Given the description of an element on the screen output the (x, y) to click on. 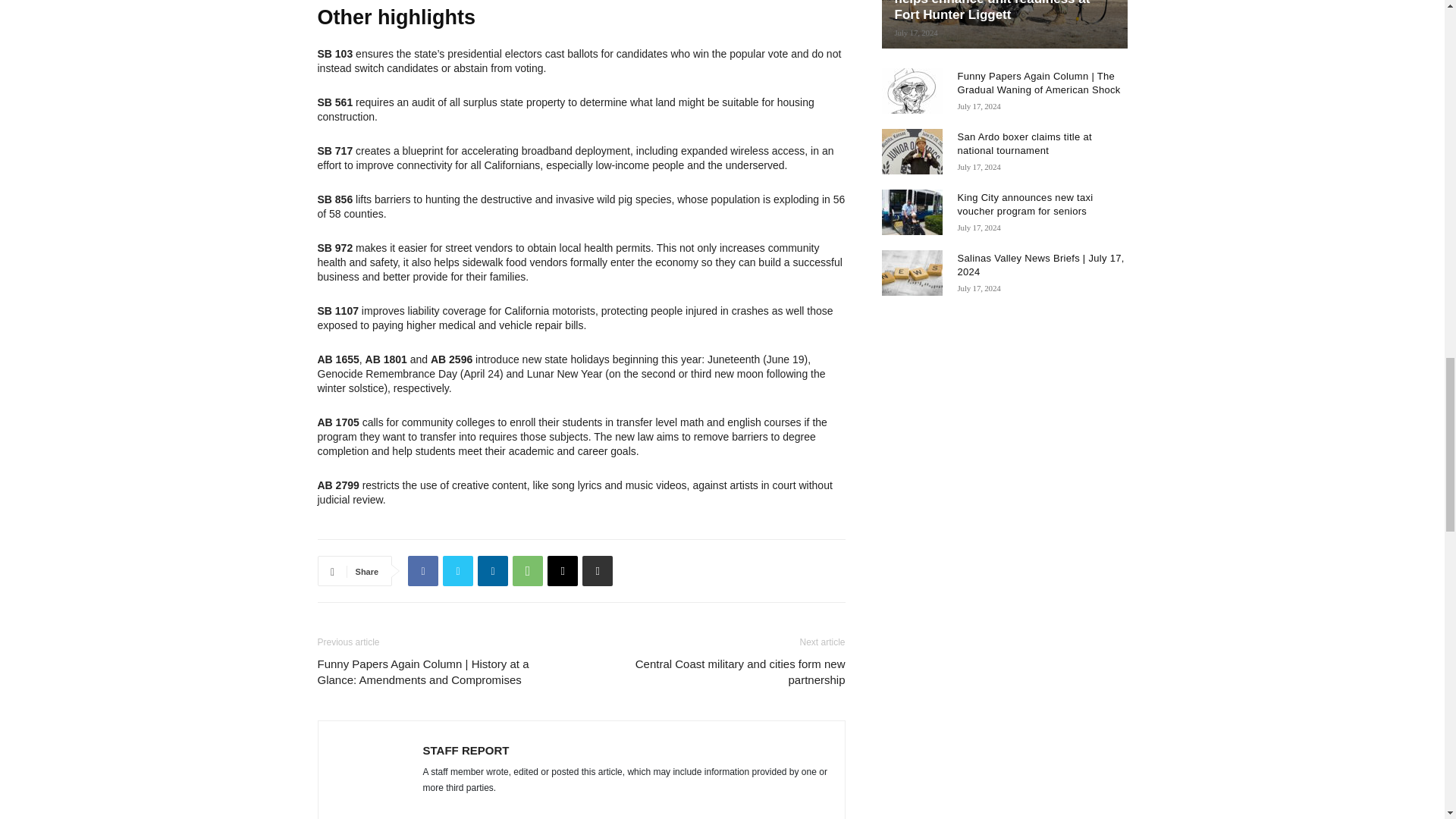
Facebook (422, 571)
Print (597, 571)
Email (562, 571)
Twitter (457, 571)
WhatsApp (527, 571)
Linkedin (492, 571)
